Given the description of an element on the screen output the (x, y) to click on. 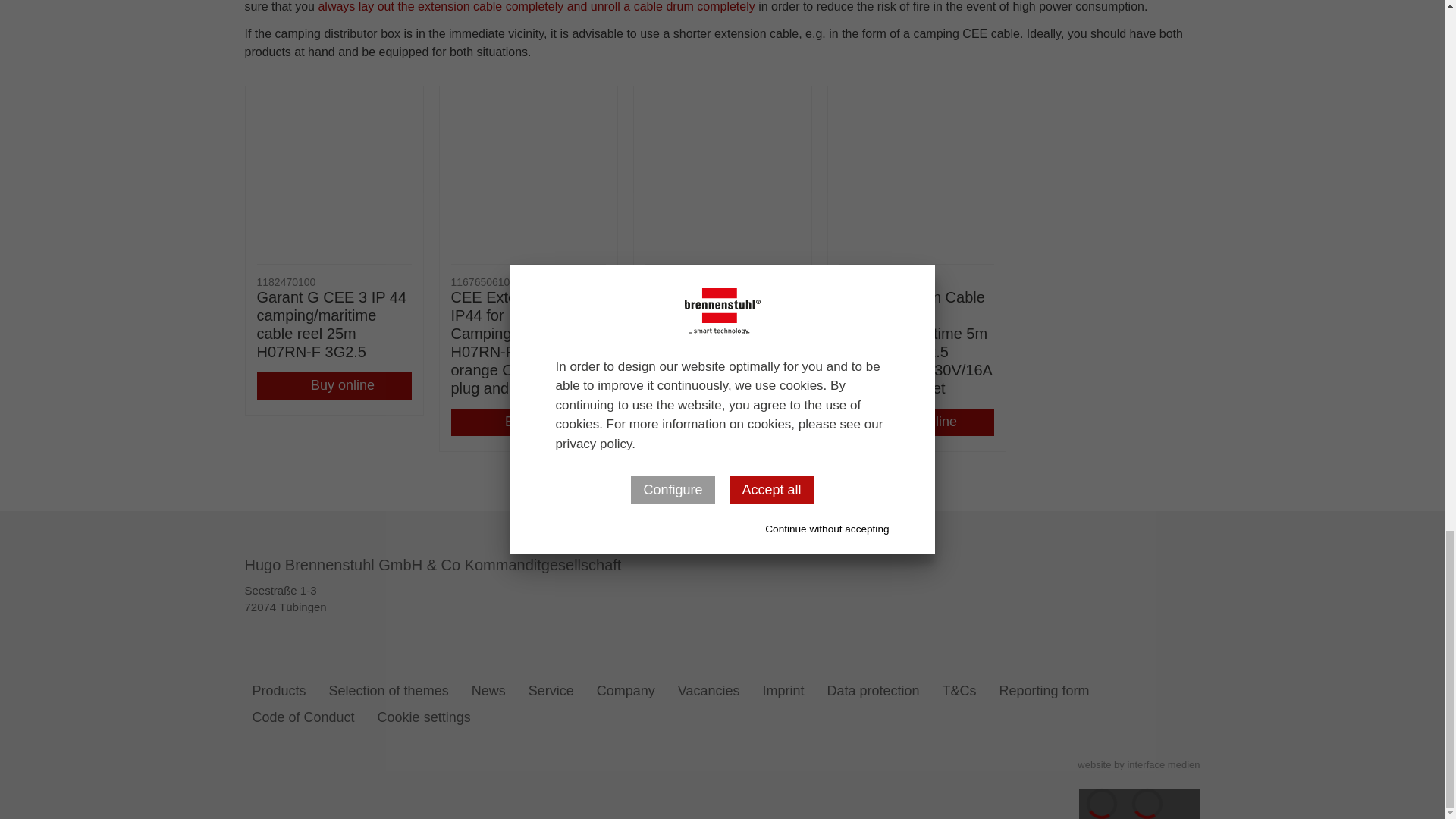
zur Interface Medien Homepage (1138, 764)
